Given the description of an element on the screen output the (x, y) to click on. 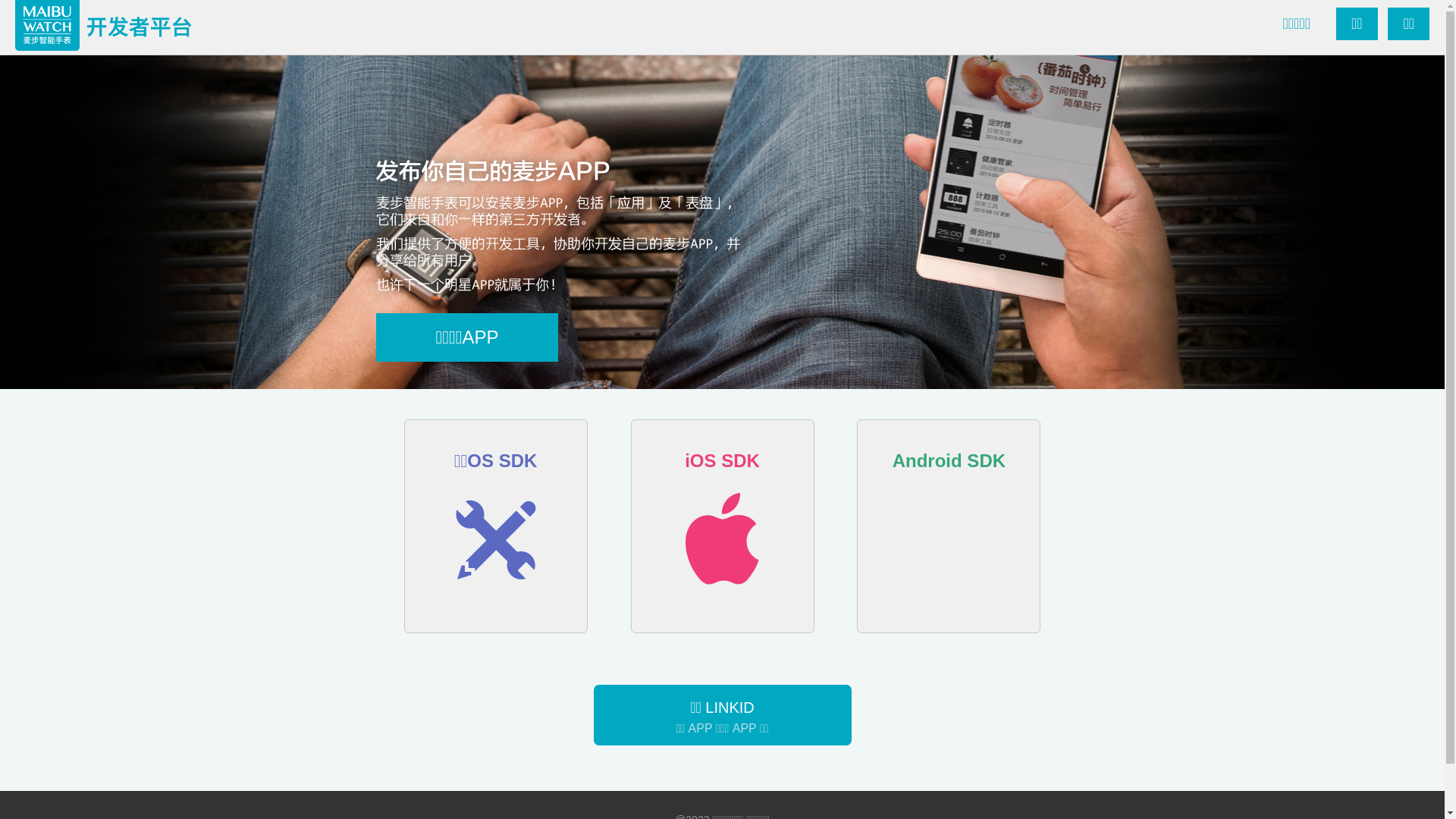
iOS SDK Element type: text (722, 526)
Android SDK Element type: text (948, 526)
